Given the description of an element on the screen output the (x, y) to click on. 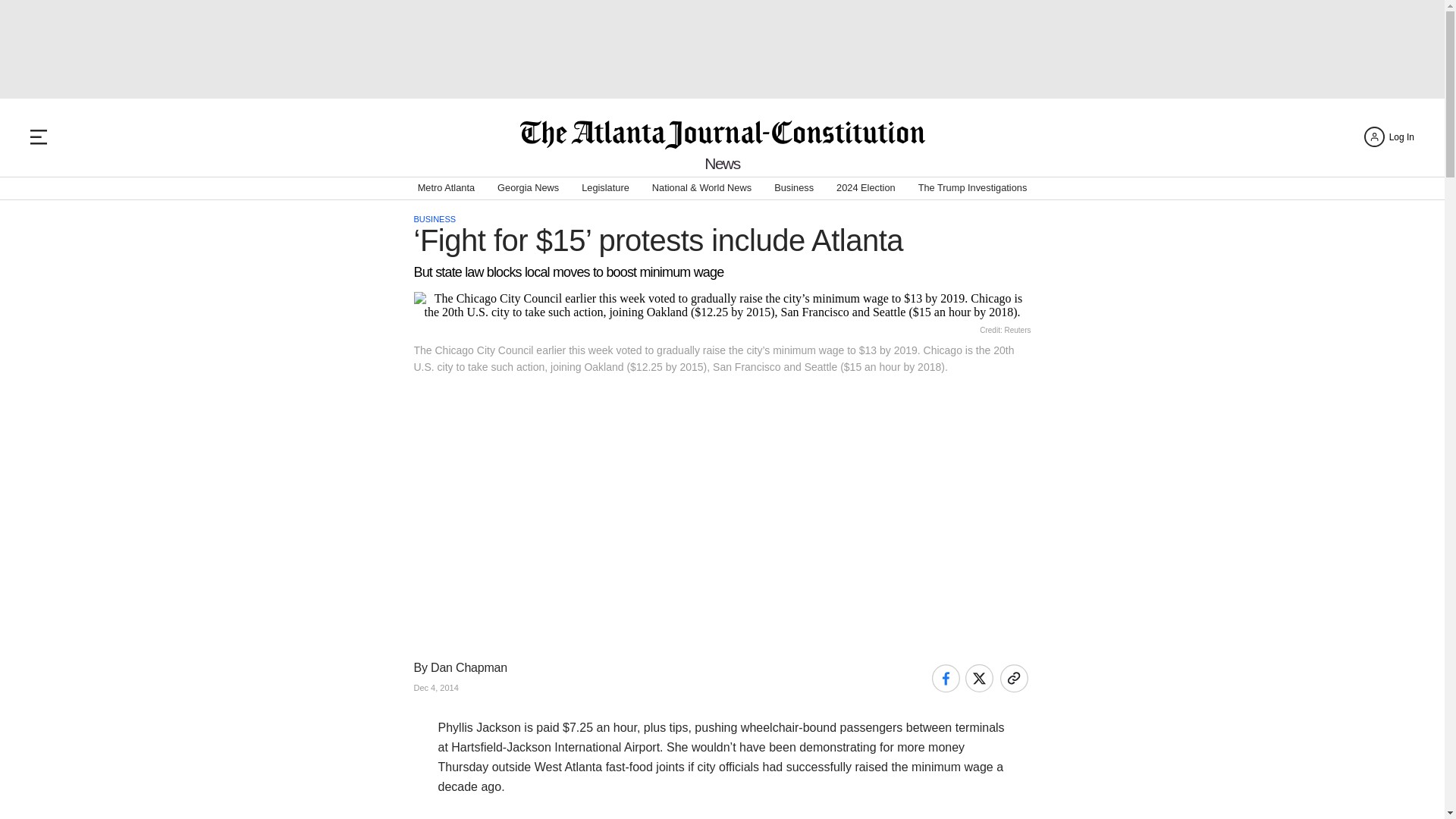
The Trump Investigations (972, 188)
Georgia News (528, 188)
Business (793, 188)
Metro Atlanta (445, 188)
2024 Election (865, 188)
News (721, 163)
Legislature (604, 188)
